Given the description of an element on the screen output the (x, y) to click on. 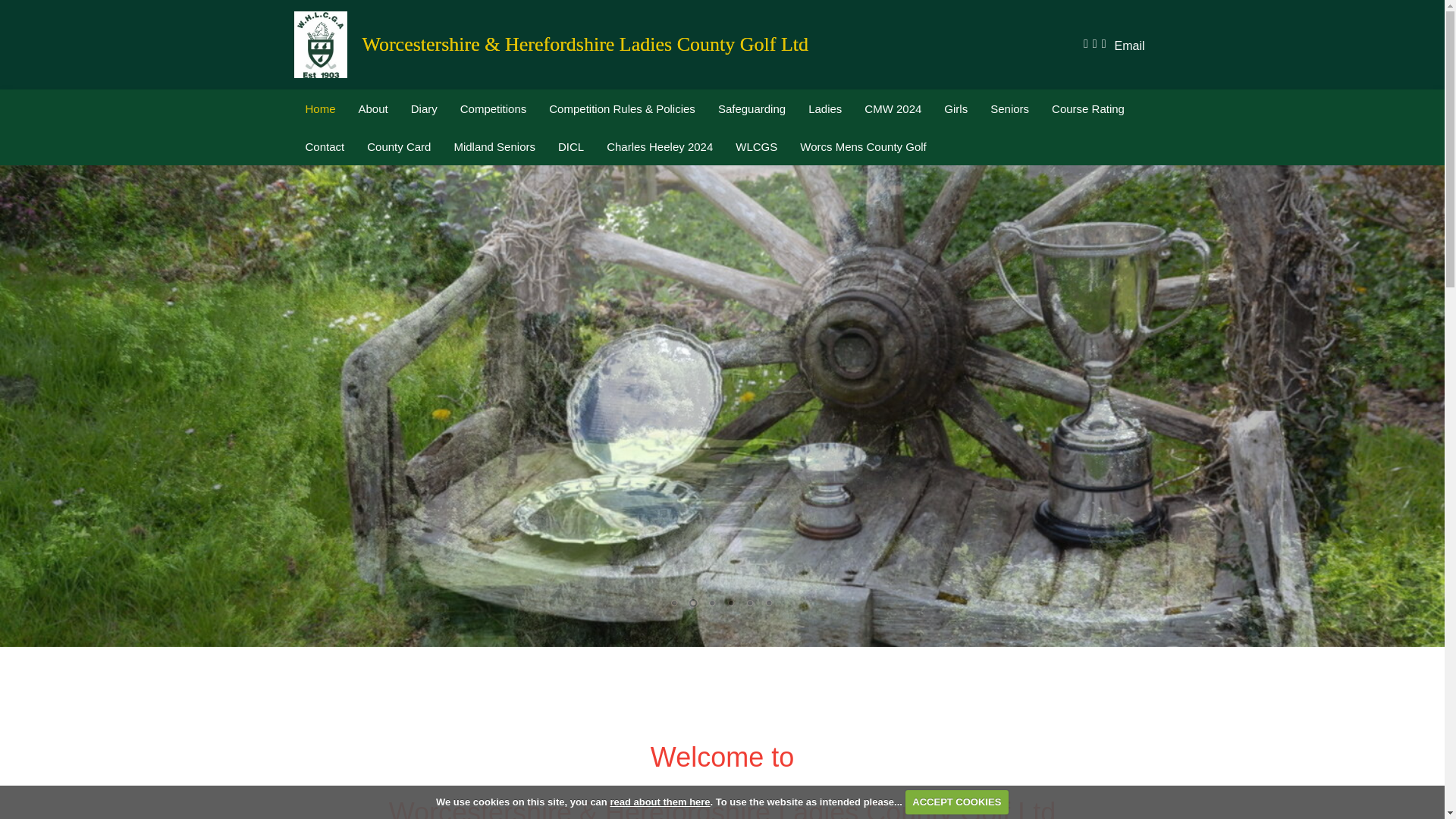
Girls (955, 108)
Competitions (493, 108)
Safeguarding (751, 108)
Home (320, 108)
CMW 2024 (893, 108)
About (372, 108)
Ladies (824, 108)
Email (1128, 46)
read about our cookies (660, 801)
Diary (423, 108)
